Given the description of an element on the screen output the (x, y) to click on. 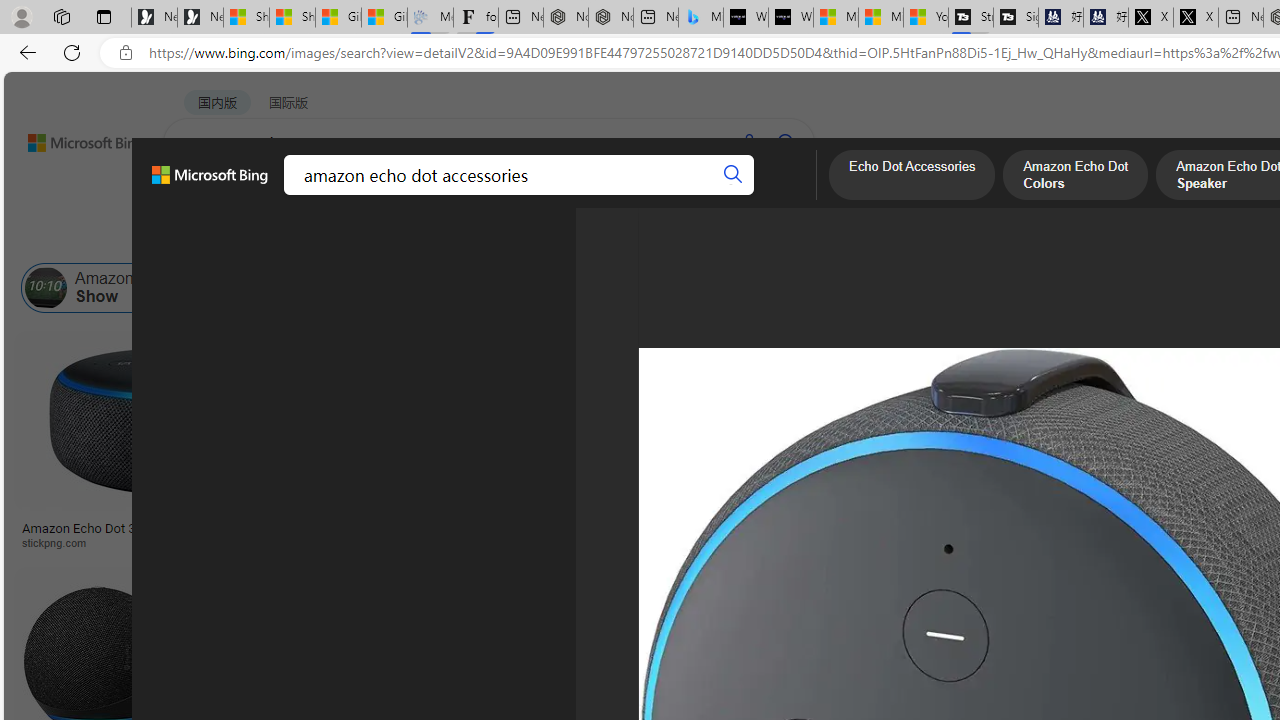
Gilma and Hector both pose tropical trouble for Hawaii (384, 17)
Shanghai, China weather forecast | Microsoft Weather (292, 17)
